Given the description of an element on the screen output the (x, y) to click on. 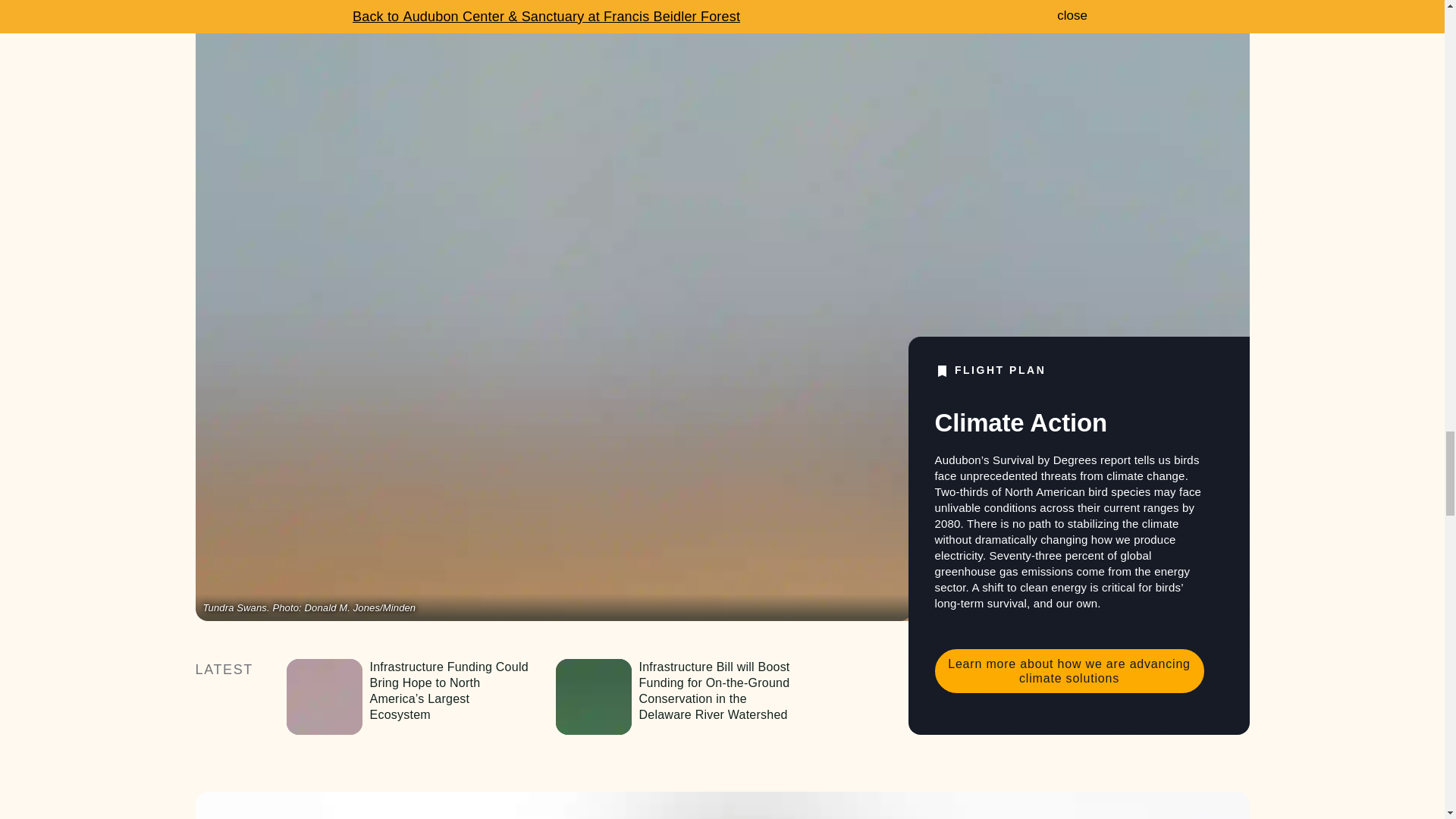
Visit Driving Policy page (722, 805)
